Given the description of an element on the screen output the (x, y) to click on. 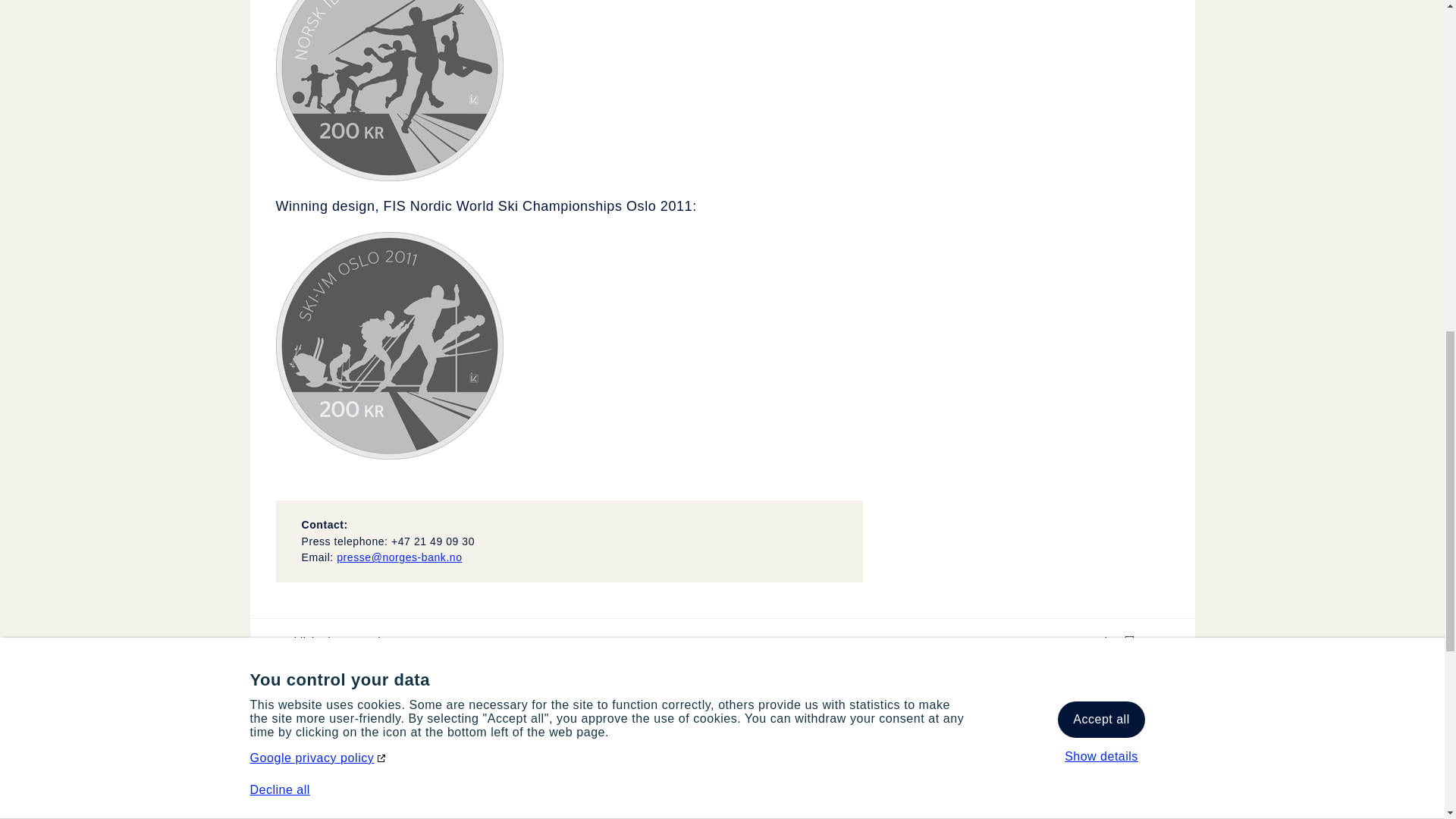
www.norges-bank.no (1331, 180)
Session (983, 131)
Required for the website to perform properly. (636, 279)
CookieInformationConsent (1157, 180)
Cookie Information (462, 180)
ARRAffinity (1157, 229)
Save settings (1367, 298)
Required for the website to perform properly. (636, 229)
Microsoft Azure (55, 297)
Microsoft Azure (462, 279)
Read more about cookies (462, 229)
a year (270, 28)
Pending (983, 180)
Cloudflare (636, 131)
